Given the description of an element on the screen output the (x, y) to click on. 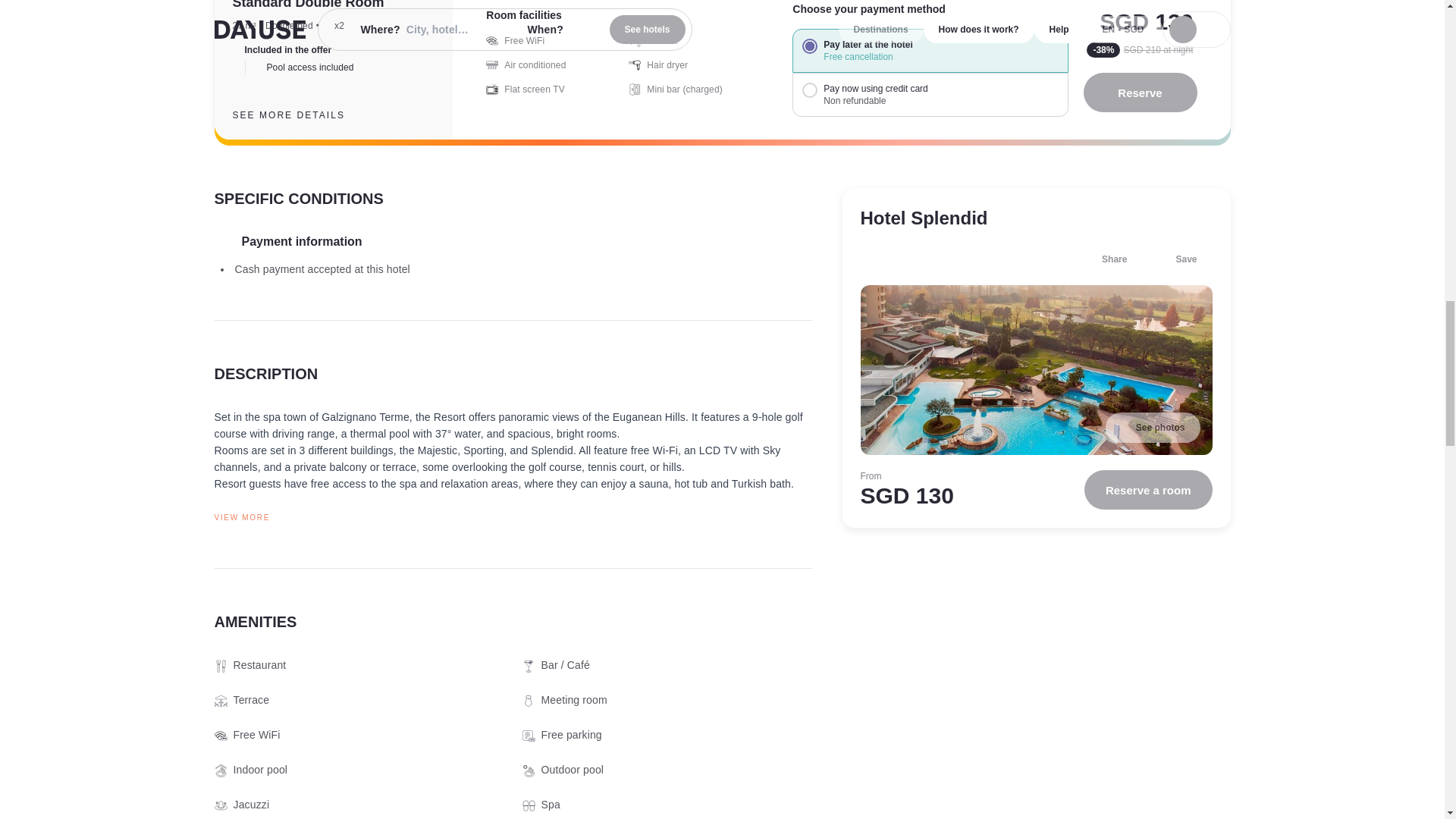
VIEW MORE (512, 517)
Reserve (1139, 92)
on (809, 89)
on (809, 46)
SEE MORE DETAILS (300, 115)
